Given the description of an element on the screen output the (x, y) to click on. 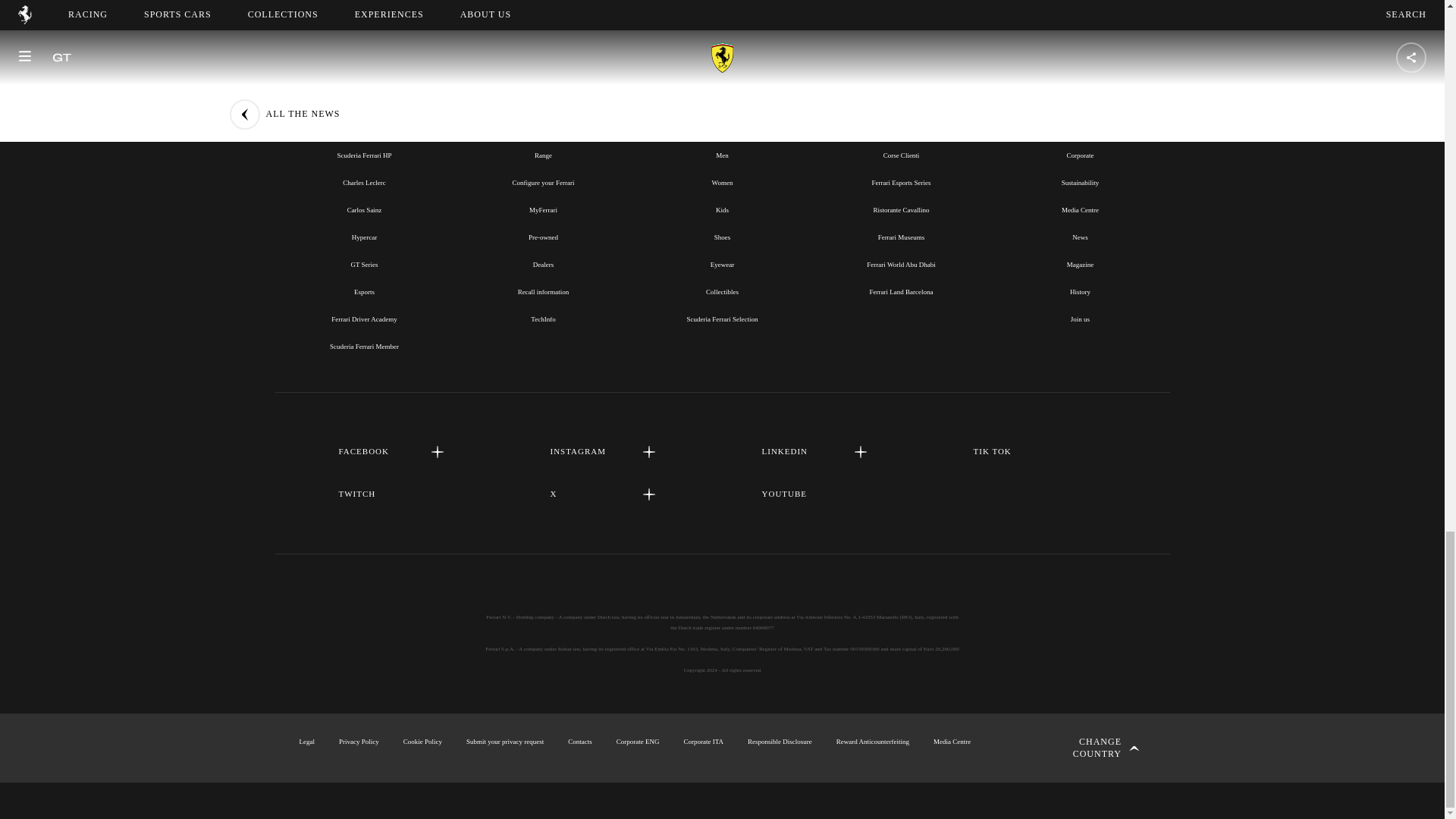
TechInfo (542, 318)
Hypercar (364, 236)
Esports (363, 291)
Change country (1090, 747)
Scuderia Ferrari Member (364, 346)
COLLECTIONS (721, 120)
Carlos Sainz (364, 209)
Dealers (542, 264)
Pre-owned (542, 236)
COLLECTIONS (721, 120)
MyFerrari (543, 209)
SUBSCRIBE (721, 2)
RACING (363, 120)
SPORTS CARS (542, 120)
GT Series (363, 264)
